Given the description of an element on the screen output the (x, y) to click on. 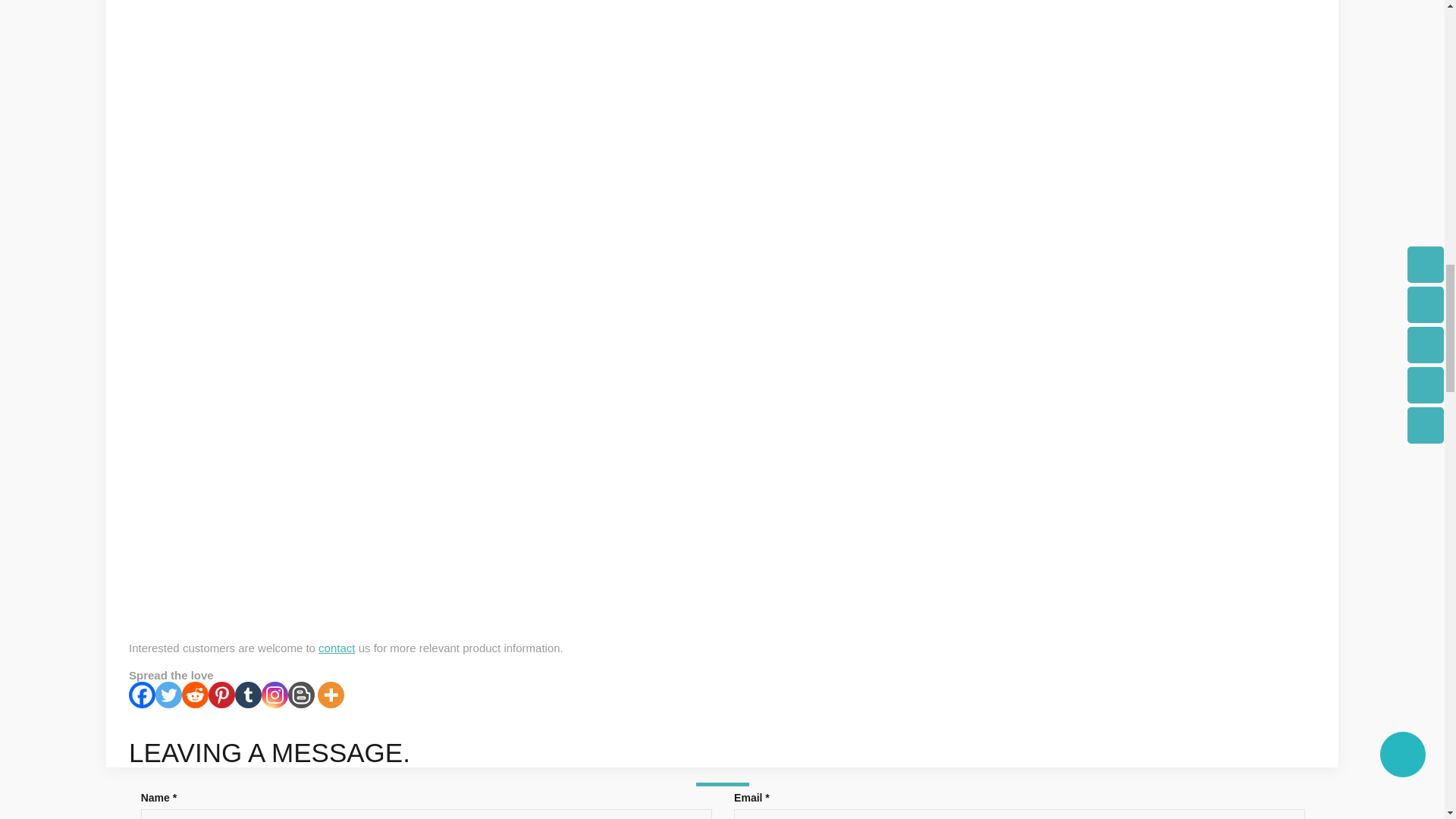
Reddit (195, 694)
Tumblr (248, 694)
Blogger Post (301, 694)
Facebook (142, 694)
Instagram (275, 694)
Pinterest (221, 694)
More (330, 694)
Twitter (168, 694)
